Given the description of an element on the screen output the (x, y) to click on. 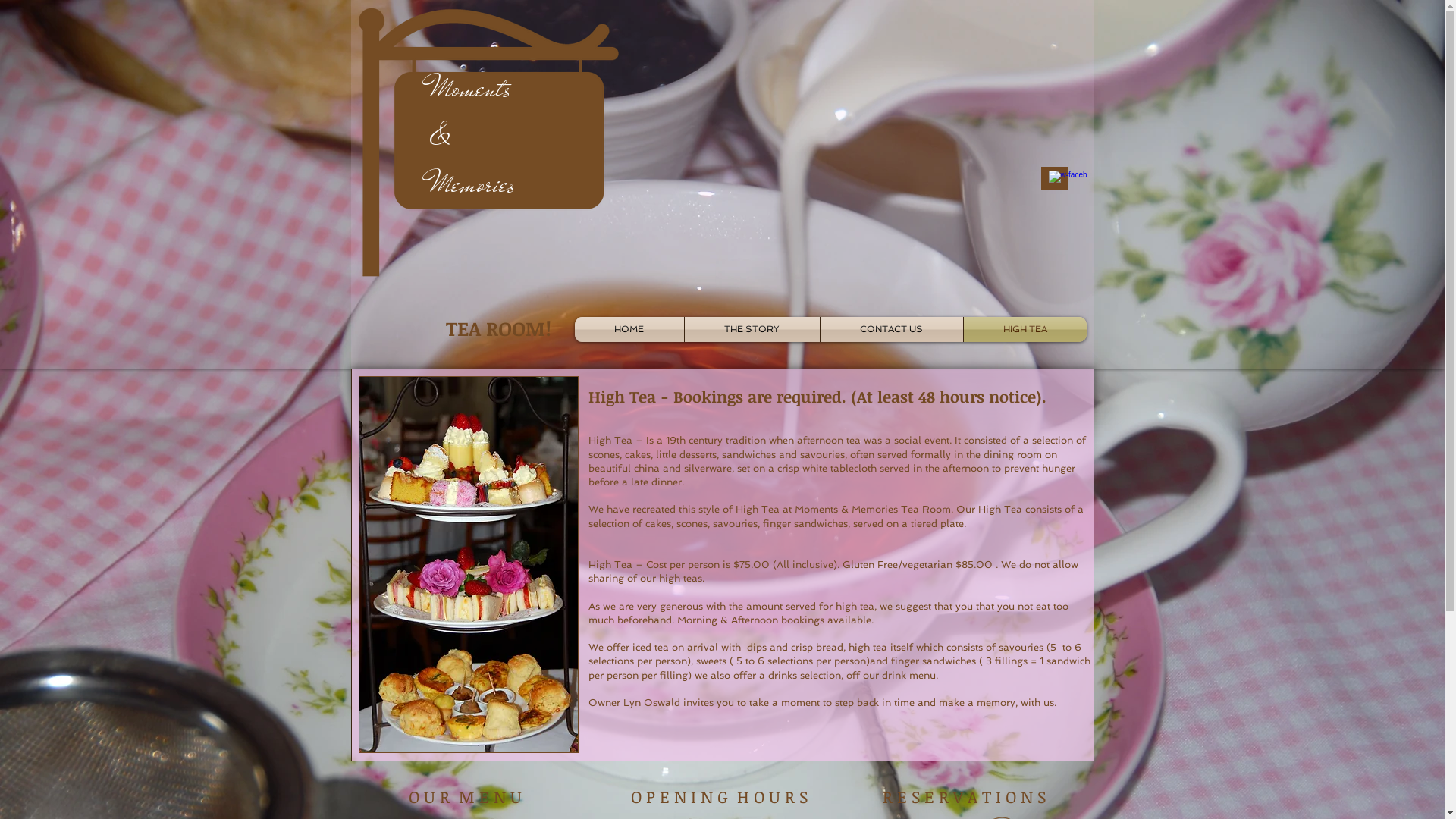
HIGH TEA Element type: text (1024, 329)
HOME Element type: text (629, 329)
CONTACT US Element type: text (891, 329)
15220138_1283368468350169_6523458167932672568_n.jpg Element type: hover (467, 564)
THE STORY Element type: text (751, 329)
